Given the description of an element on the screen output the (x, y) to click on. 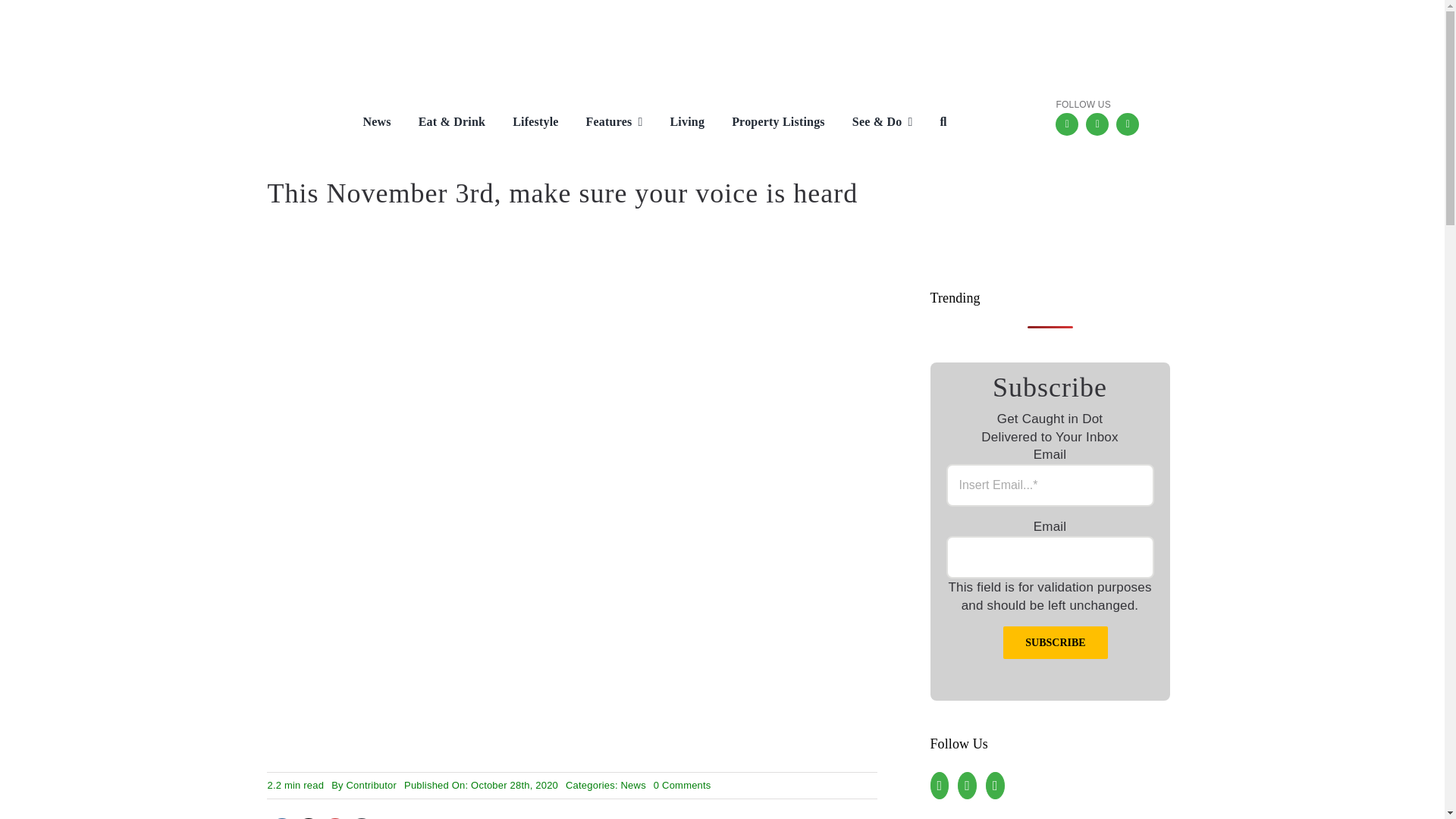
Subscribe (1054, 642)
Lifestyle (523, 122)
Features (603, 122)
Property Listings (767, 122)
Contributor (371, 785)
Facebook (1066, 124)
Living (675, 122)
Instagram (1097, 124)
X (1127, 124)
News (364, 122)
Posts by Contributor (371, 785)
News (633, 785)
